Given the description of an element on the screen output the (x, y) to click on. 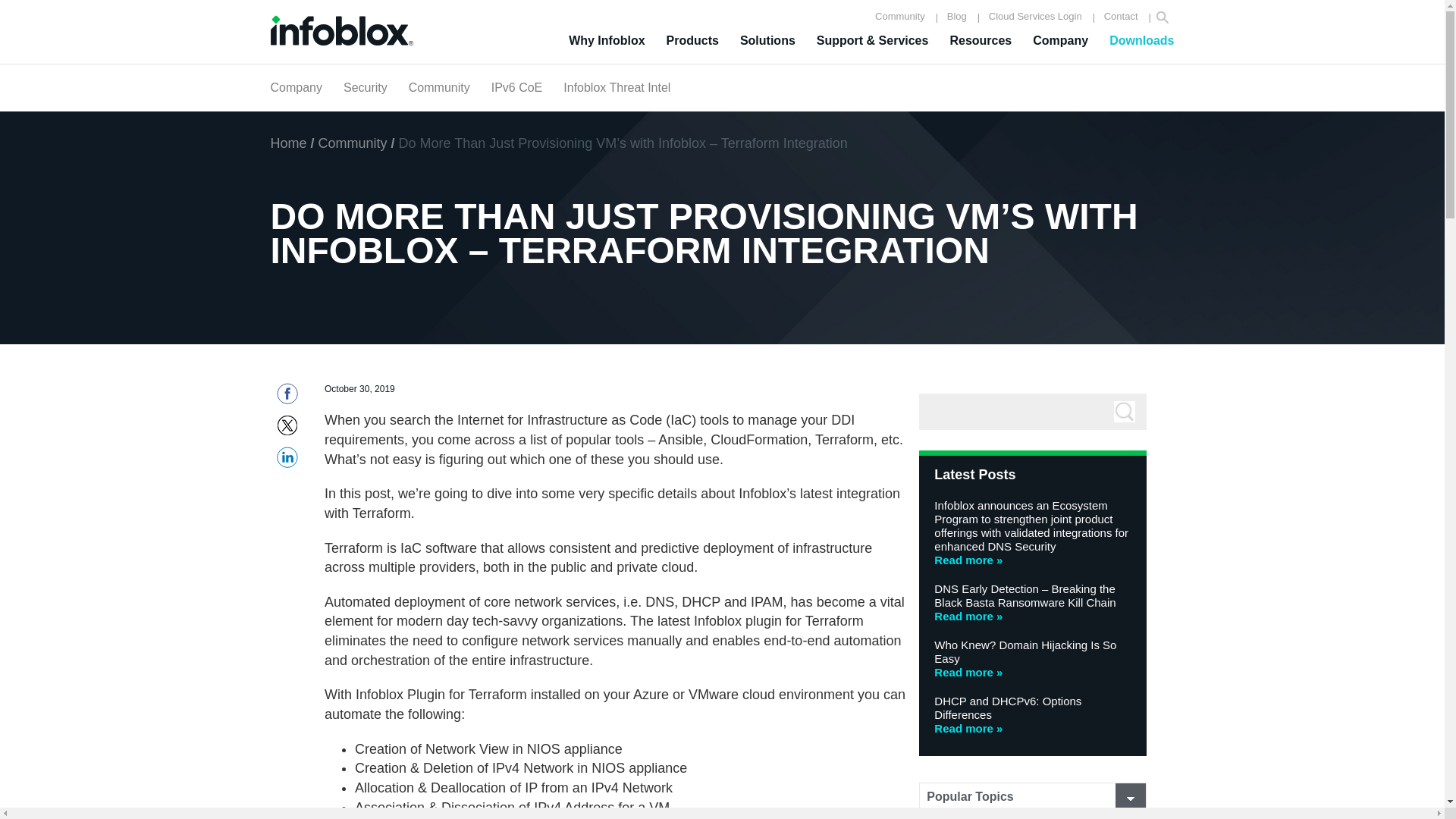
Blog (956, 16)
Community (900, 16)
Products (692, 40)
Why Infoblox (606, 40)
Share On Facebook (286, 398)
Cloud Services Login (1035, 16)
Contact (1120, 16)
Share On Twitter (286, 429)
